Given the description of an element on the screen output the (x, y) to click on. 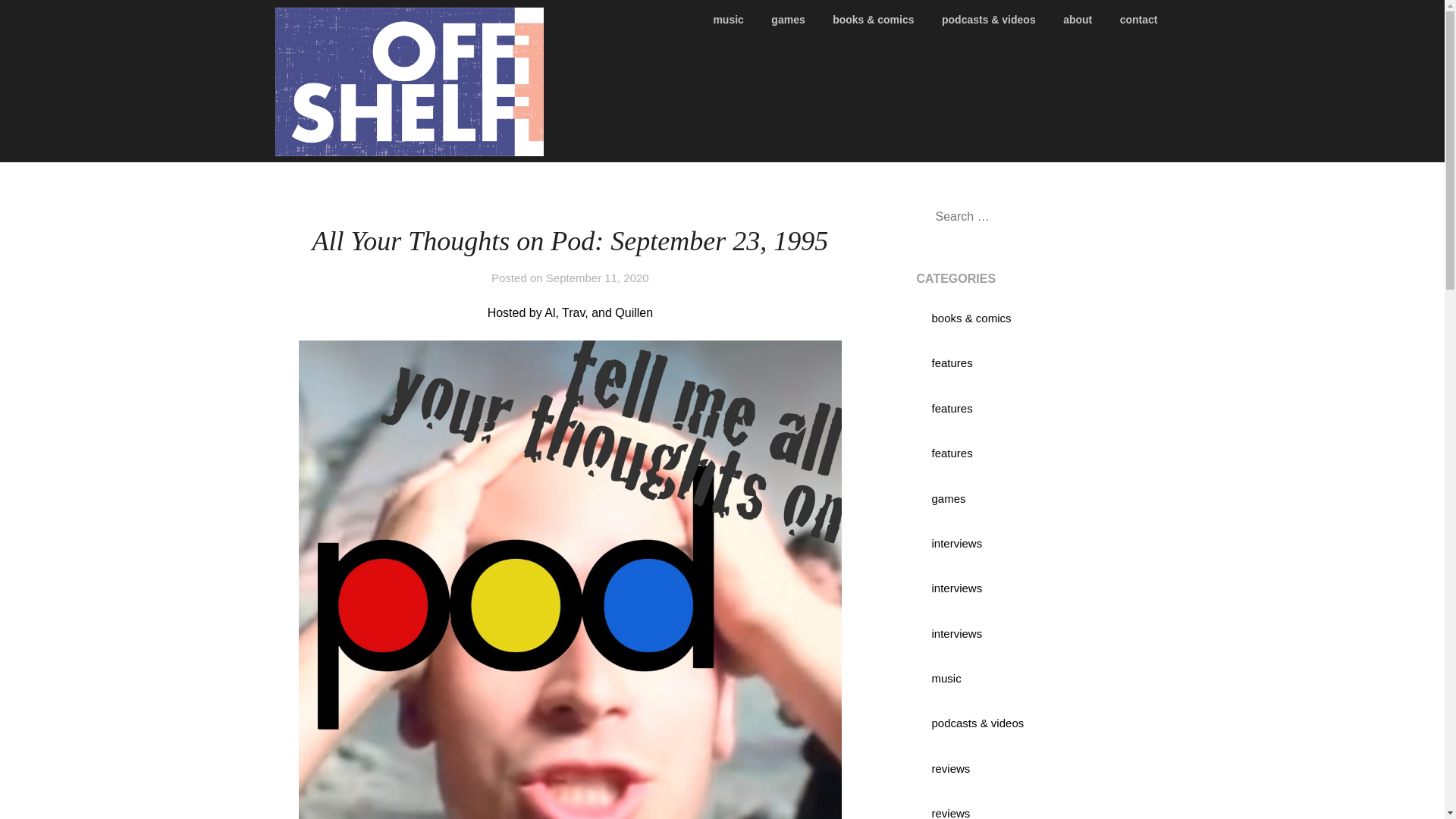
September 11, 2020 (597, 277)
interviews (956, 633)
contact (1139, 20)
games (787, 20)
reviews (950, 768)
reviews (950, 812)
interviews (956, 587)
games (948, 498)
features (951, 362)
interviews (956, 543)
